Given the description of an element on the screen output the (x, y) to click on. 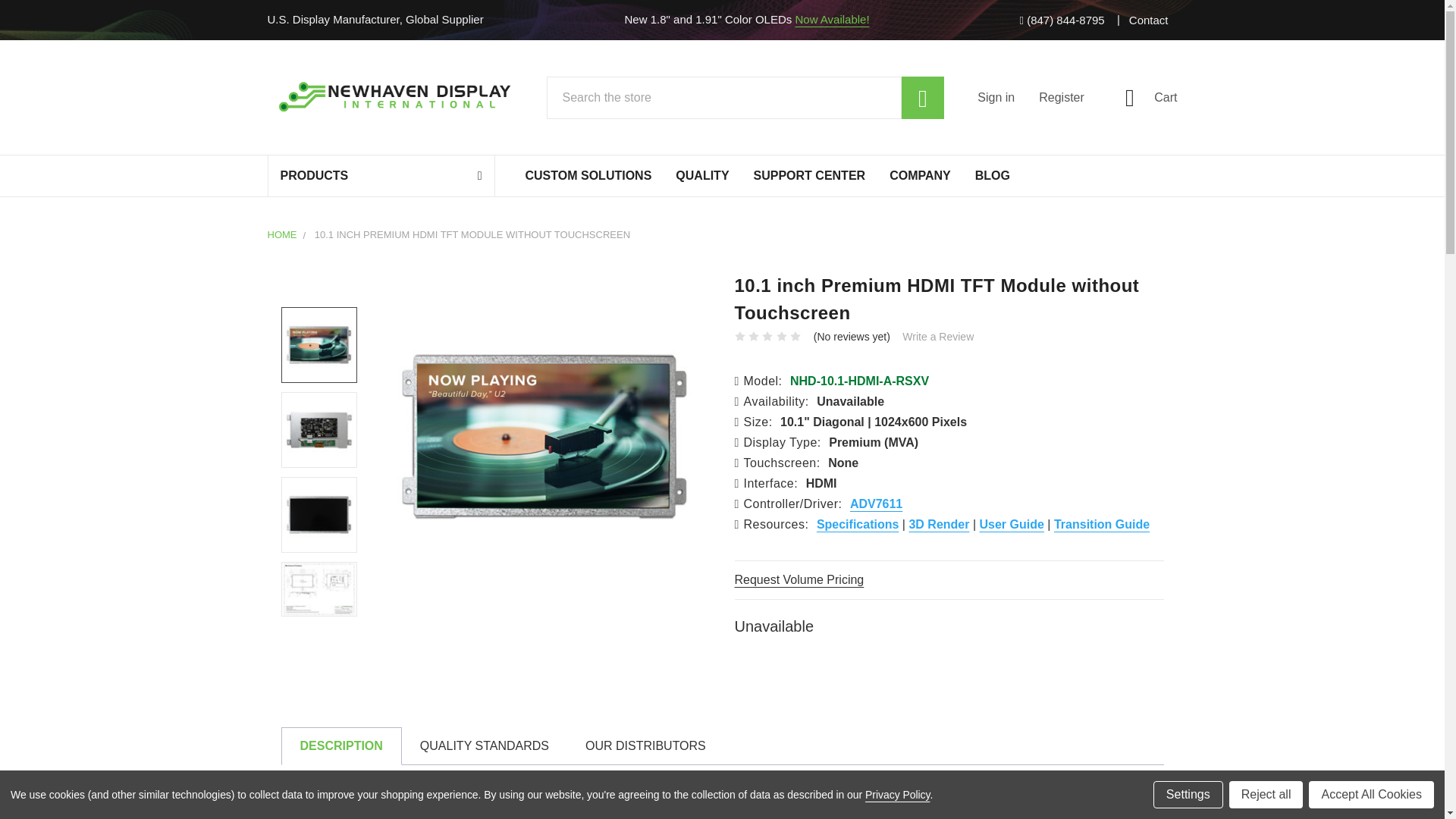
Cart (1142, 97)
10.1 inch Premium HDMI TFT Module PCB back (319, 429)
SEARCH (922, 97)
10.1 inch Premium HDMI TFT Module front ON (319, 344)
Sign in (1007, 97)
Newhaven Display (398, 97)
10.1 inch Premium HDMI TFT Module front ON (545, 436)
Register (1073, 97)
10.1 inch Premium HDMI TFT Module front OFF (319, 514)
Contact (1148, 20)
PRODUCTS (381, 175)
Specification drawing for NHD-10.1-HDMI-A-RSXV (319, 588)
Now Available! (831, 19)
